Given the description of an element on the screen output the (x, y) to click on. 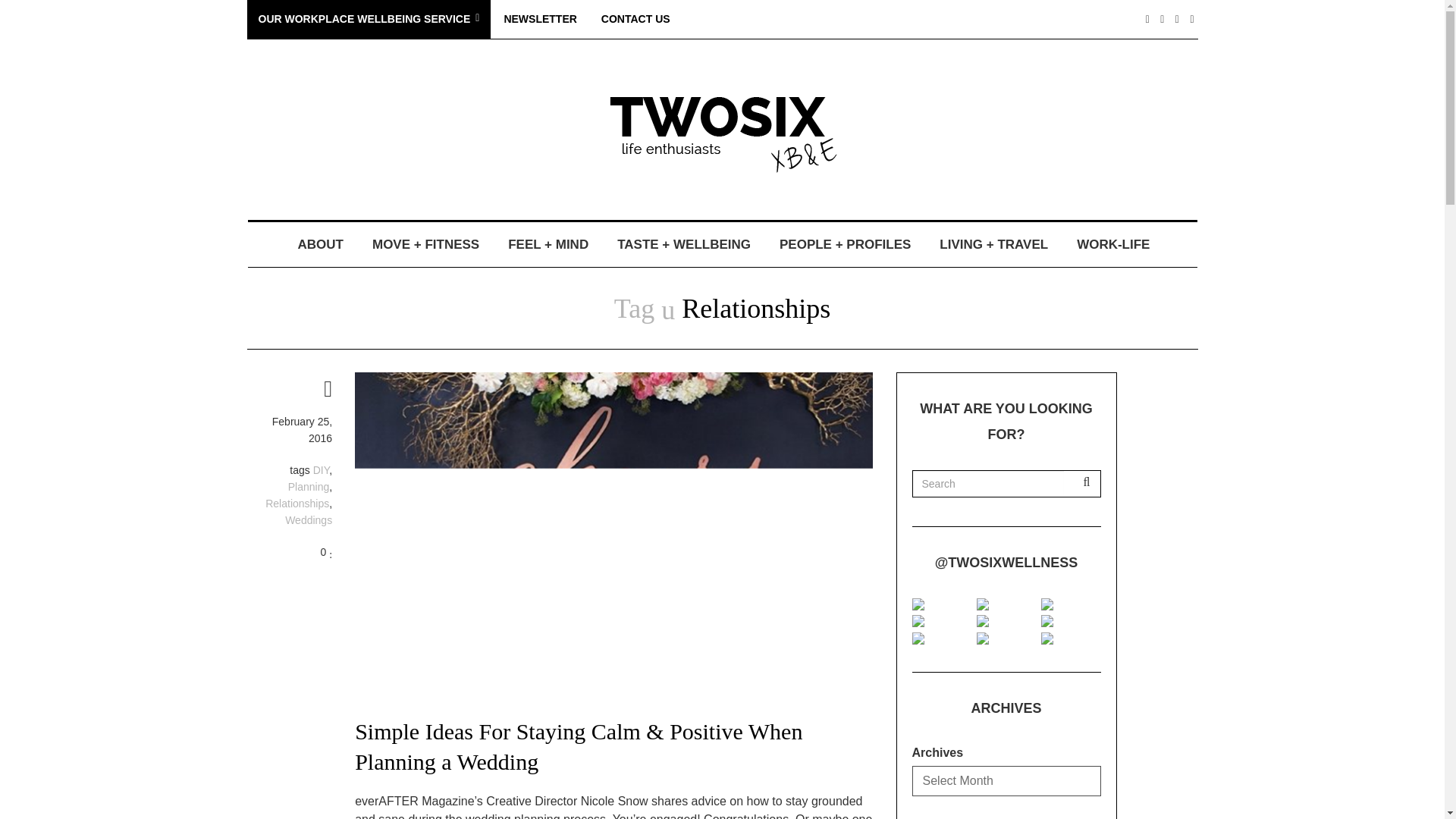
TWOSIX Wellness (721, 132)
Now this is something to live by Were going tohellip (982, 604)
Start your morning with a smile some stretches and 3hellip (1046, 604)
NEWSLETTER (540, 19)
Just one of the awesome places we get to teach!hellip (918, 621)
Take us back to our Mindful Morning! We chatted abouthellip (982, 621)
Amen (1046, 621)
Namaste The divine in me honours the divine in youhellip (982, 638)
Bible  (1046, 638)
CONTACT US (635, 19)
Morning smoothies A simple and quick way to pack ahellip (918, 638)
ABOUT (320, 244)
OUR WORKPLACE WELLBEING SERVICE (369, 19)
